Given the description of an element on the screen output the (x, y) to click on. 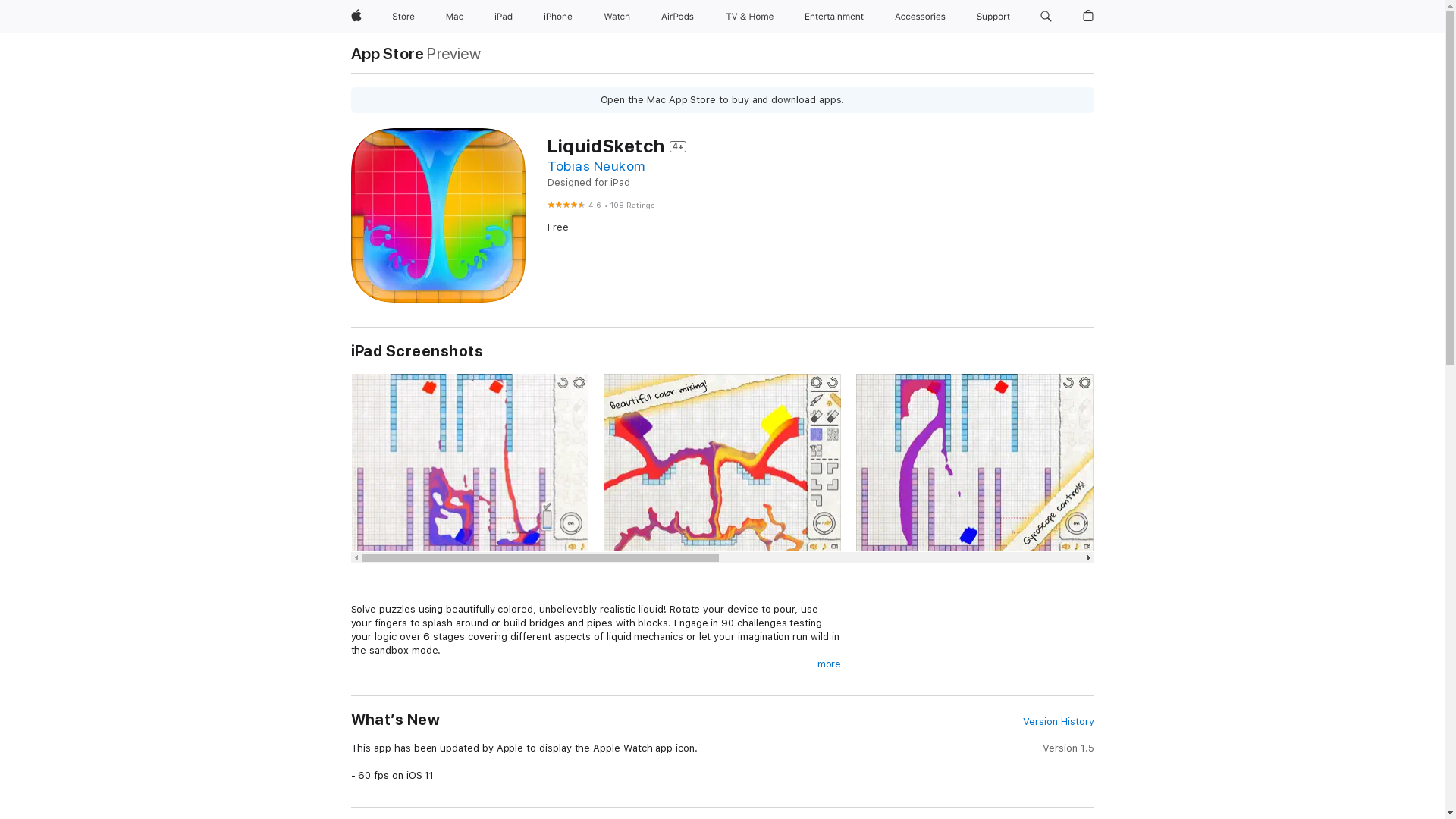
Watch Element type: text (616, 16)
iPhone Element type: text (557, 16)
Mac Element type: text (454, 16)
AirPods Element type: text (677, 16)
Entertainment Element type: text (834, 16)
Tobias Neukom Element type: text (595, 165)
iPad Element type: text (503, 16)
Accessories Element type: text (919, 16)
Apple Element type: text (355, 16)
TV & Home Element type: text (749, 16)
App Store Element type: text (386, 53)
Support Element type: text (993, 16)
Version History Element type: text (1057, 721)
Store Element type: text (402, 16)
more Element type: text (829, 664)
